Given the description of an element on the screen output the (x, y) to click on. 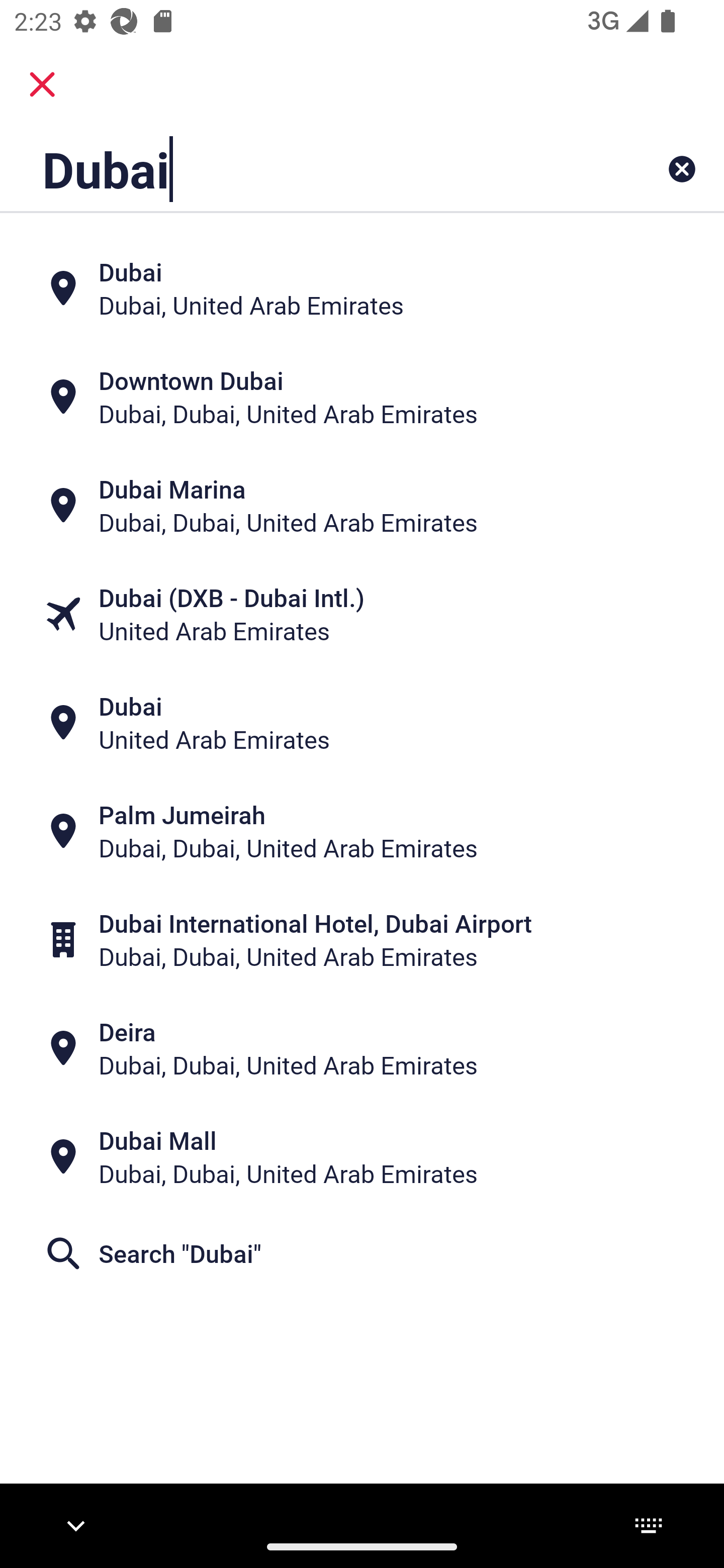
close. (42, 84)
Clear (681, 169)
Dubai (298, 169)
Dubai Dubai, United Arab Emirates (362, 288)
Downtown Dubai Dubai, Dubai, United Arab Emirates (362, 397)
Dubai Marina Dubai, Dubai, United Arab Emirates (362, 505)
Dubai (DXB - Dubai Intl.) United Arab Emirates (362, 613)
Dubai United Arab Emirates (362, 722)
Palm Jumeirah Dubai, Dubai, United Arab Emirates (362, 831)
Deira Dubai, Dubai, United Arab Emirates (362, 1048)
Dubai Mall Dubai, Dubai, United Arab Emirates (362, 1156)
Search "Dubai" (362, 1252)
